Given the description of an element on the screen output the (x, y) to click on. 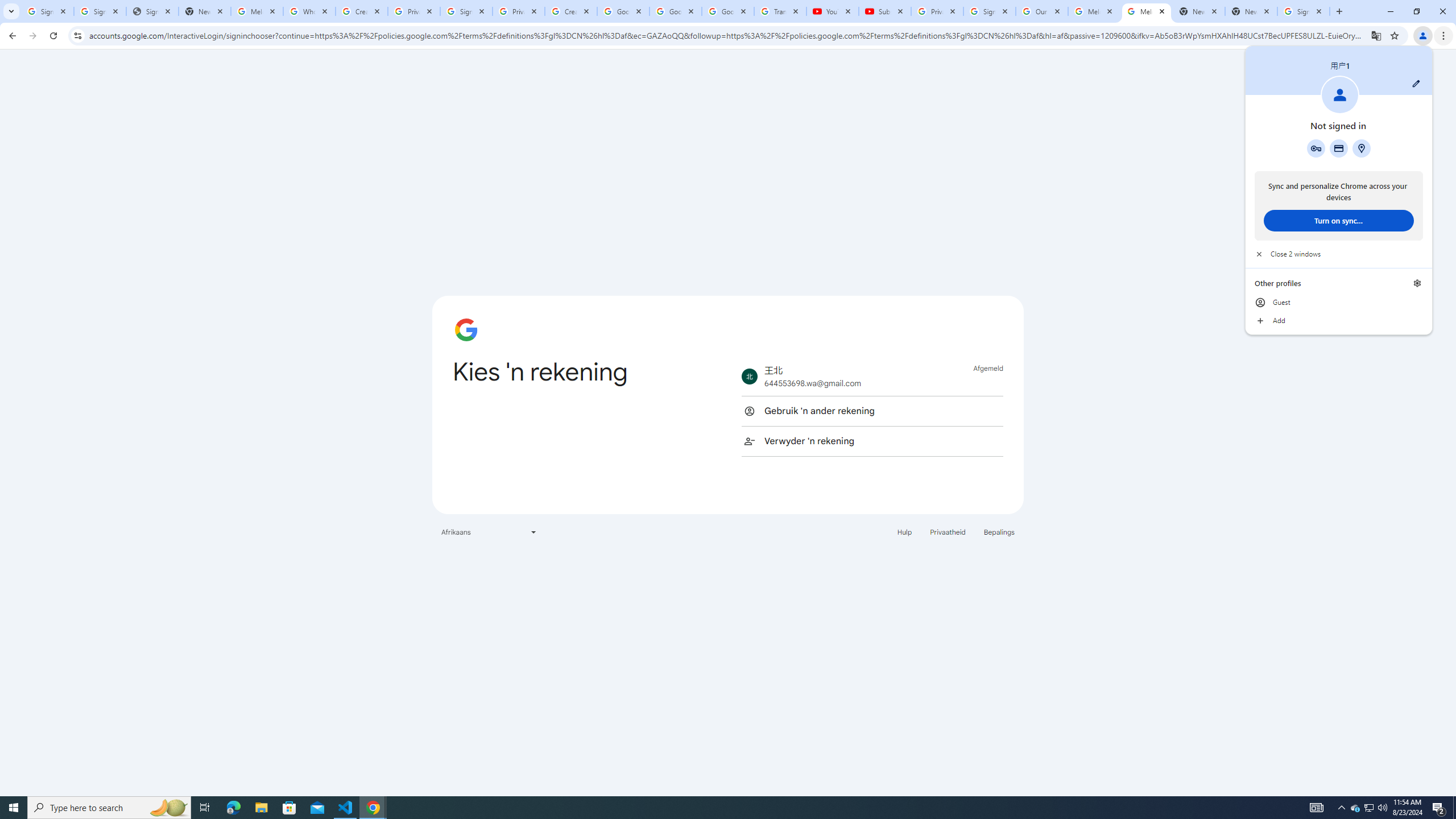
Add a Place (288, 285)
Shared with Me (288, 145)
Get Add-ins (59, 286)
OneDrive (288, 183)
